Given the description of an element on the screen output the (x, y) to click on. 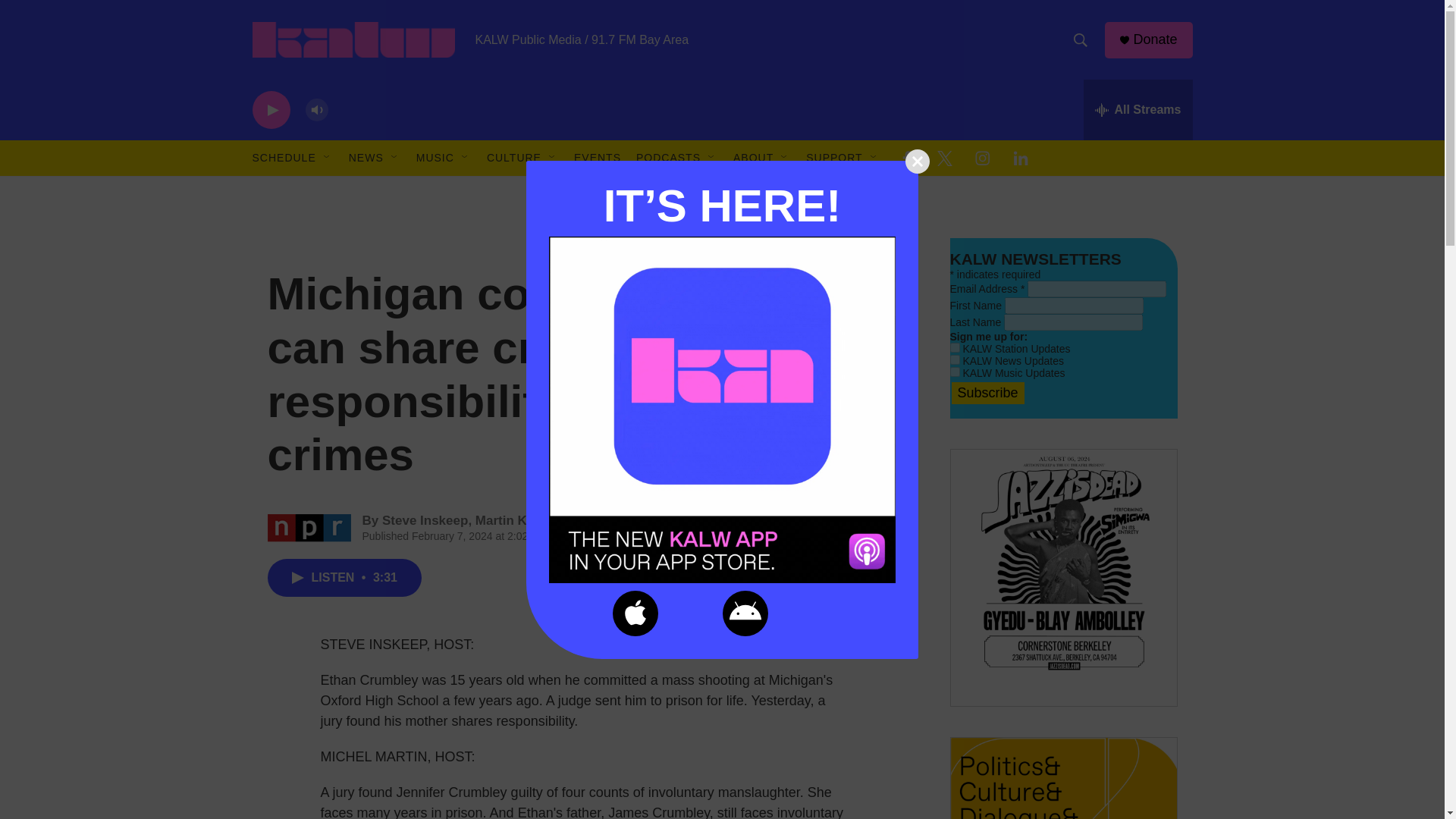
2 (954, 347)
1 (954, 359)
Close (917, 160)
4 (954, 371)
Subscribe (986, 393)
